Given the description of an element on the screen output the (x, y) to click on. 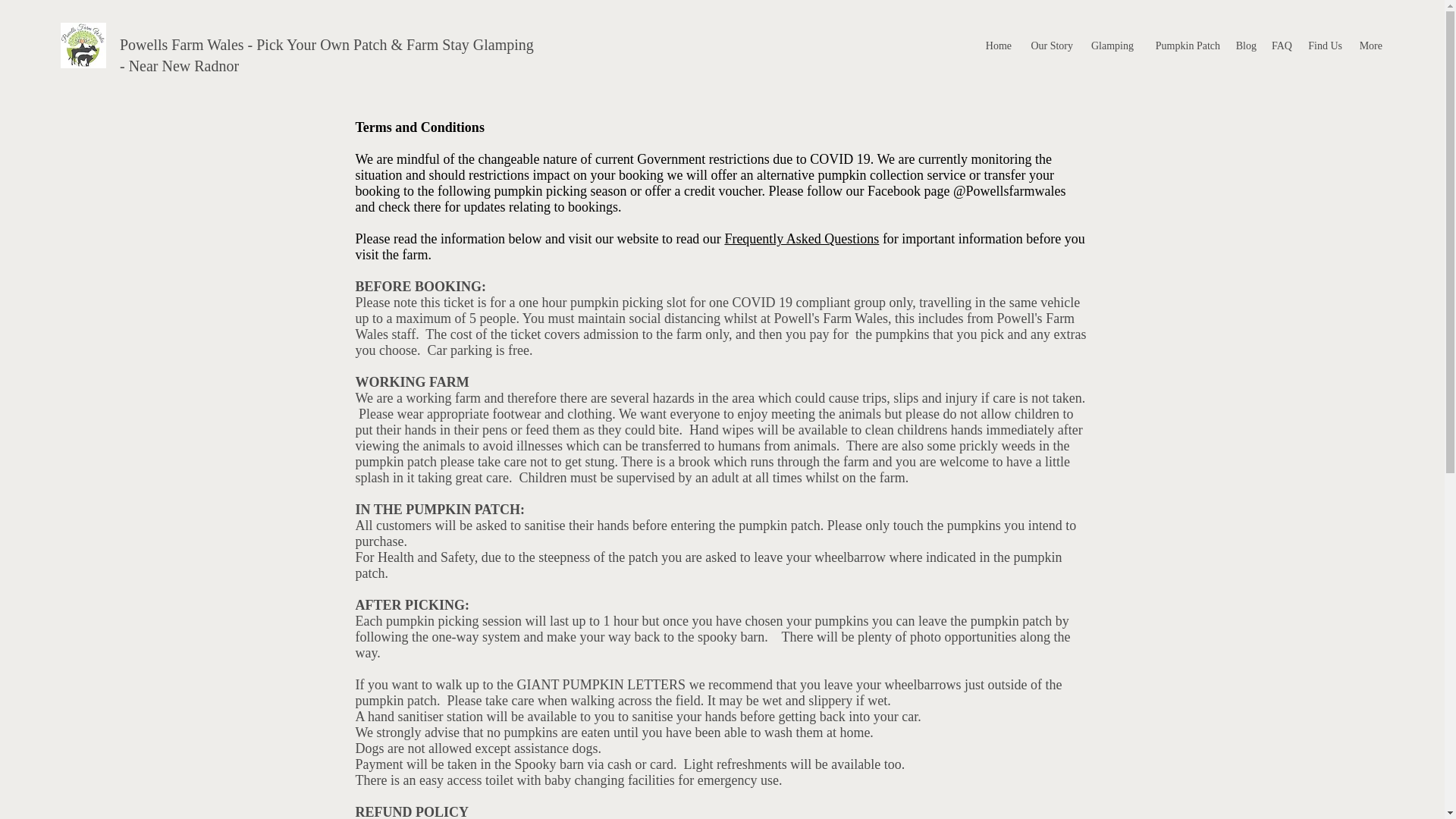
Glamping (1110, 46)
Find Us (1323, 46)
Frequently Asked Questions (801, 238)
Blog (1245, 46)
Our Story (1049, 46)
- Near New Radnor  (181, 65)
Home (997, 46)
Pumpkin Patch (1184, 46)
FAQ (1280, 46)
